Given the description of an element on the screen output the (x, y) to click on. 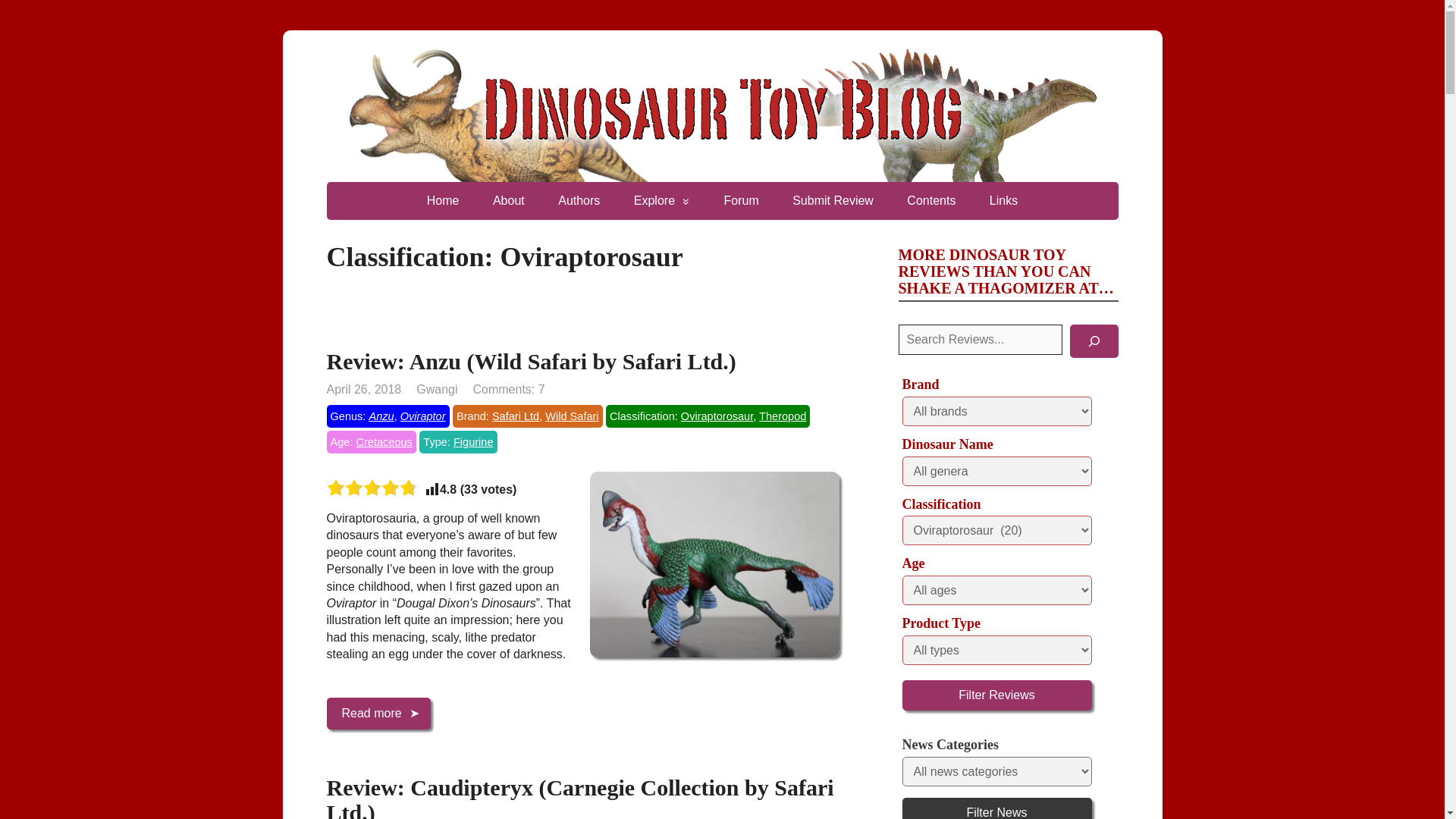
Gwangi (436, 389)
Submit Review (832, 200)
Home (443, 200)
Oviraptor (422, 416)
Read more (377, 713)
Anzu (380, 416)
Genus: Anzu, Oviraptor (387, 415)
Comments: 7 (507, 389)
Wild Safari (571, 416)
About (508, 200)
Oviraptorosaur (716, 416)
Type: Figurine (457, 441)
Posts by Gwangi (436, 389)
Brand: Safari Ltd, Wild Safari (527, 415)
Explore (661, 200)
